Given the description of an element on the screen output the (x, y) to click on. 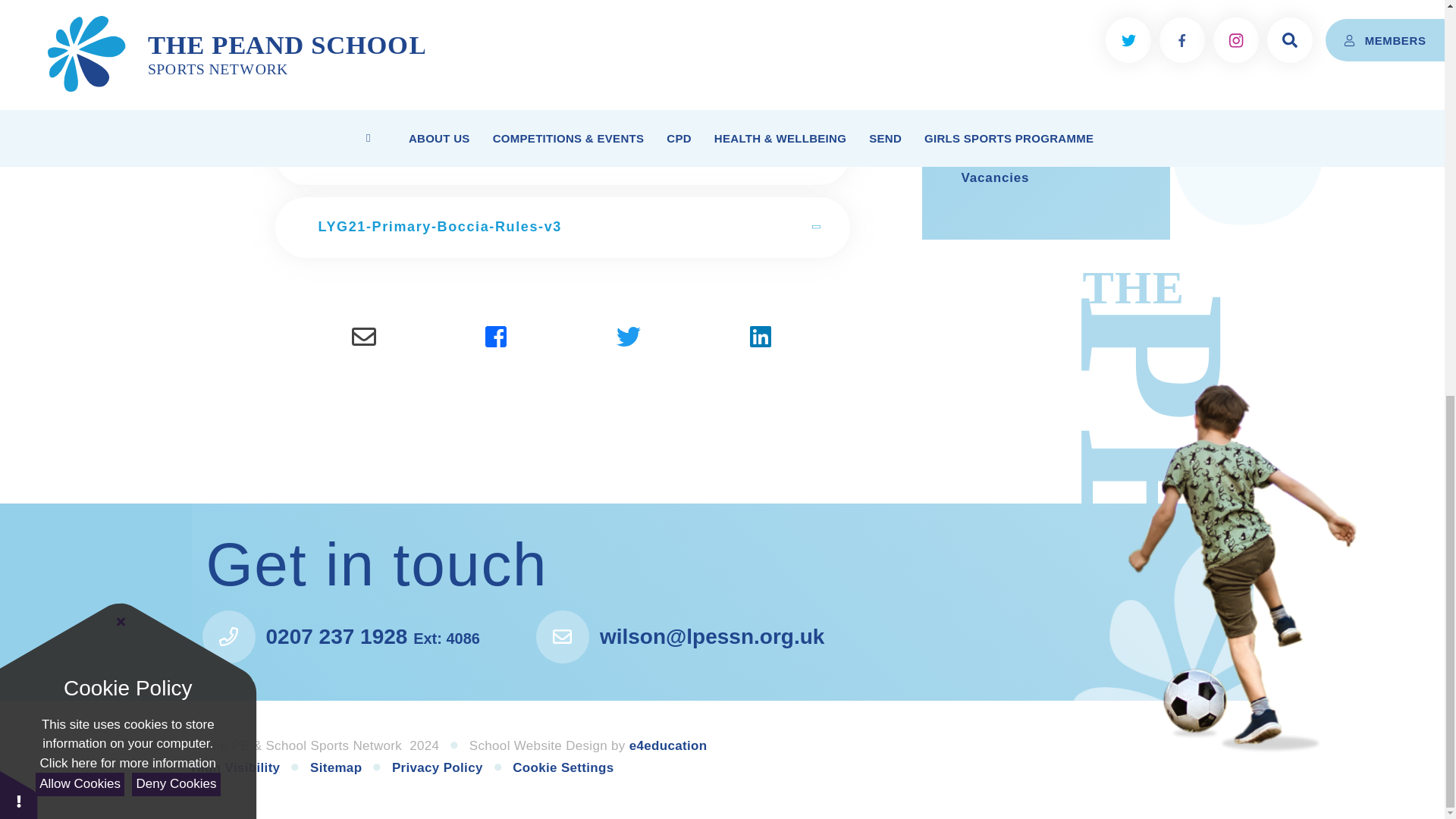
Allow Cookies (78, 20)
Deny Cookies (175, 20)
See cookie policy (127, 4)
Cookie Settings (18, 30)
Cookie Settings (562, 767)
